Given the description of an element on the screen output the (x, y) to click on. 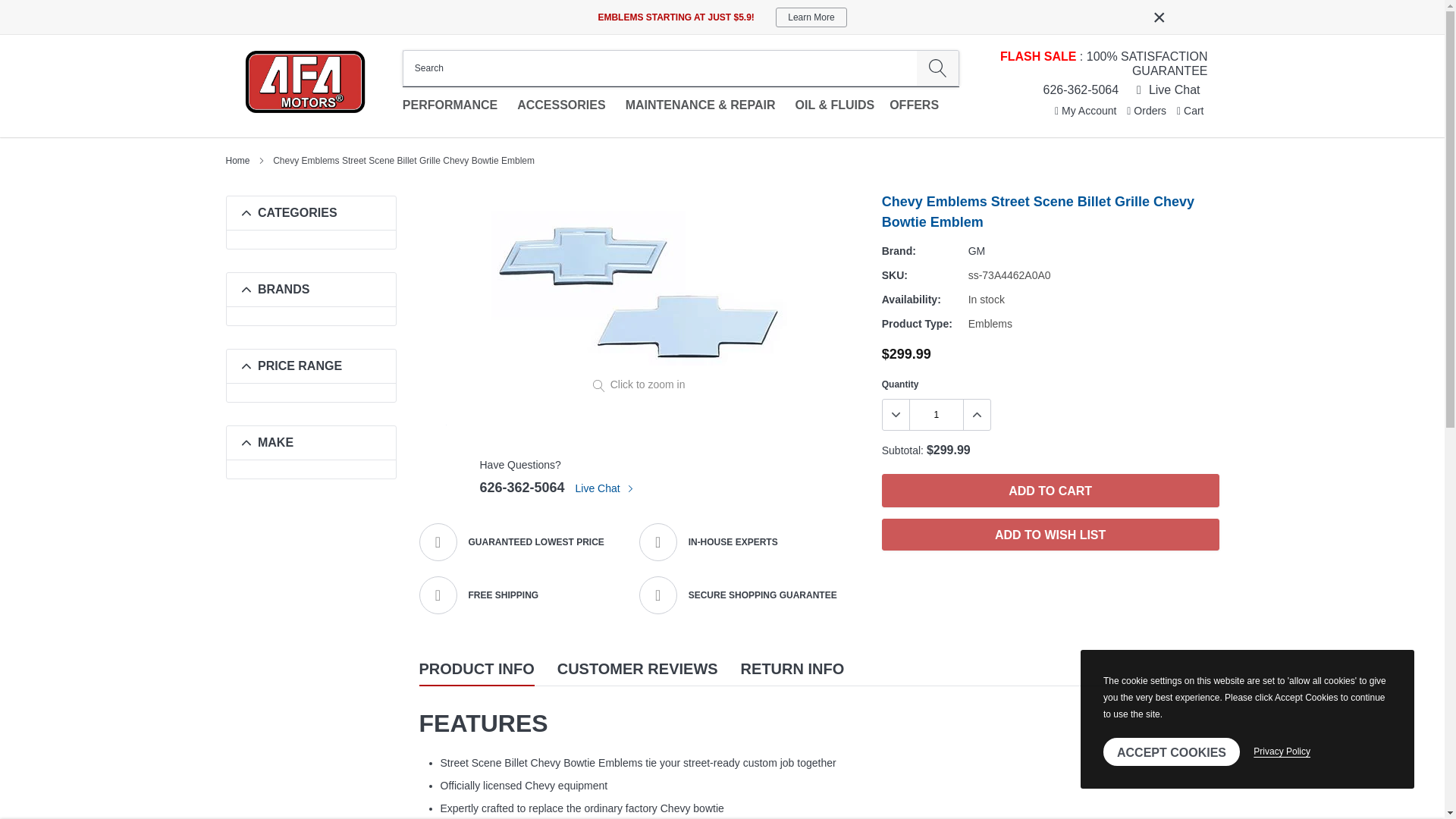
search (937, 67)
1 (936, 414)
GM (976, 250)
